Given the description of an element on the screen output the (x, y) to click on. 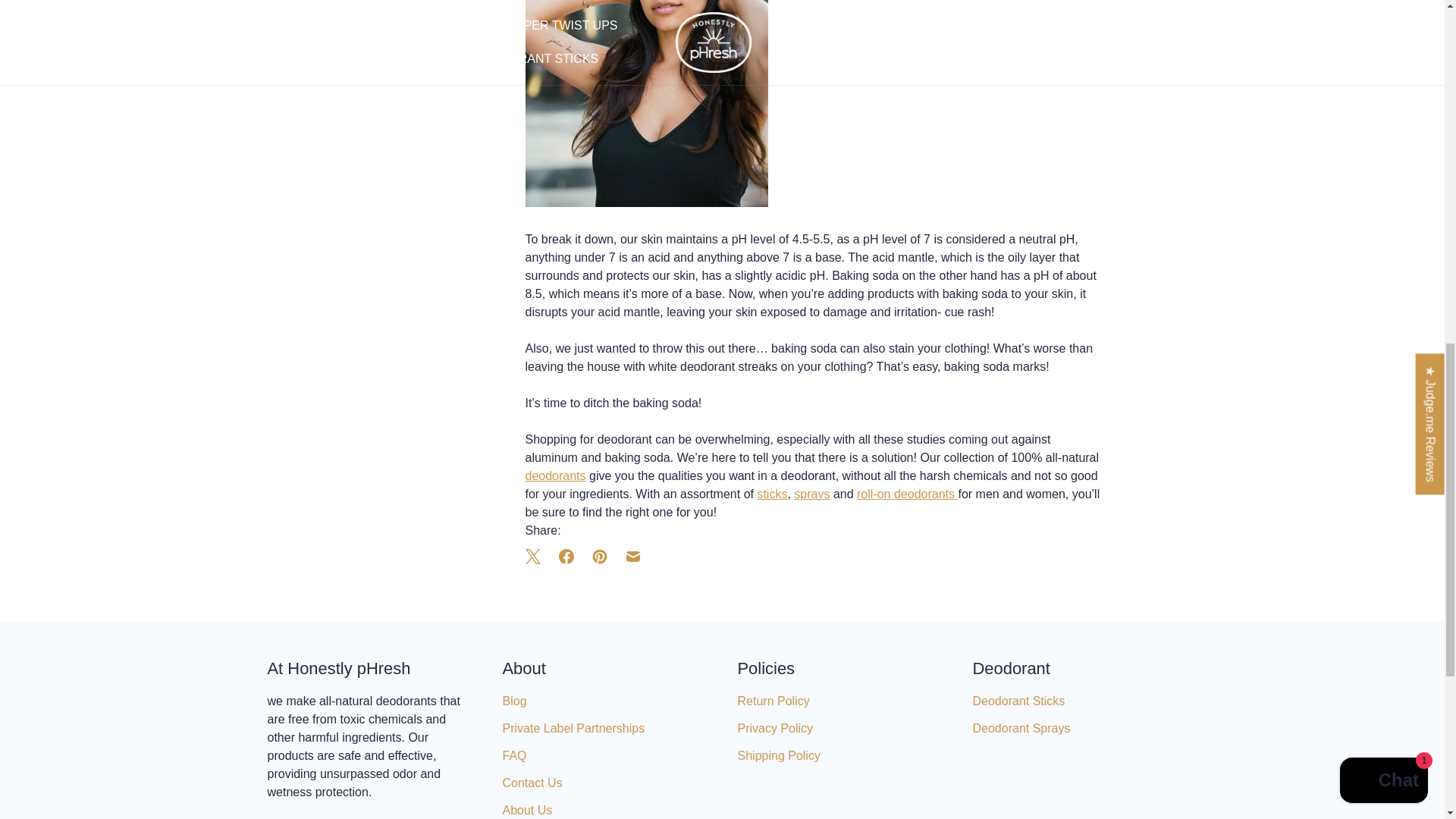
Share this on Facebook (565, 556)
Email this to a friend (632, 556)
Share this on Pinterest (598, 556)
